Given the description of an element on the screen output the (x, y) to click on. 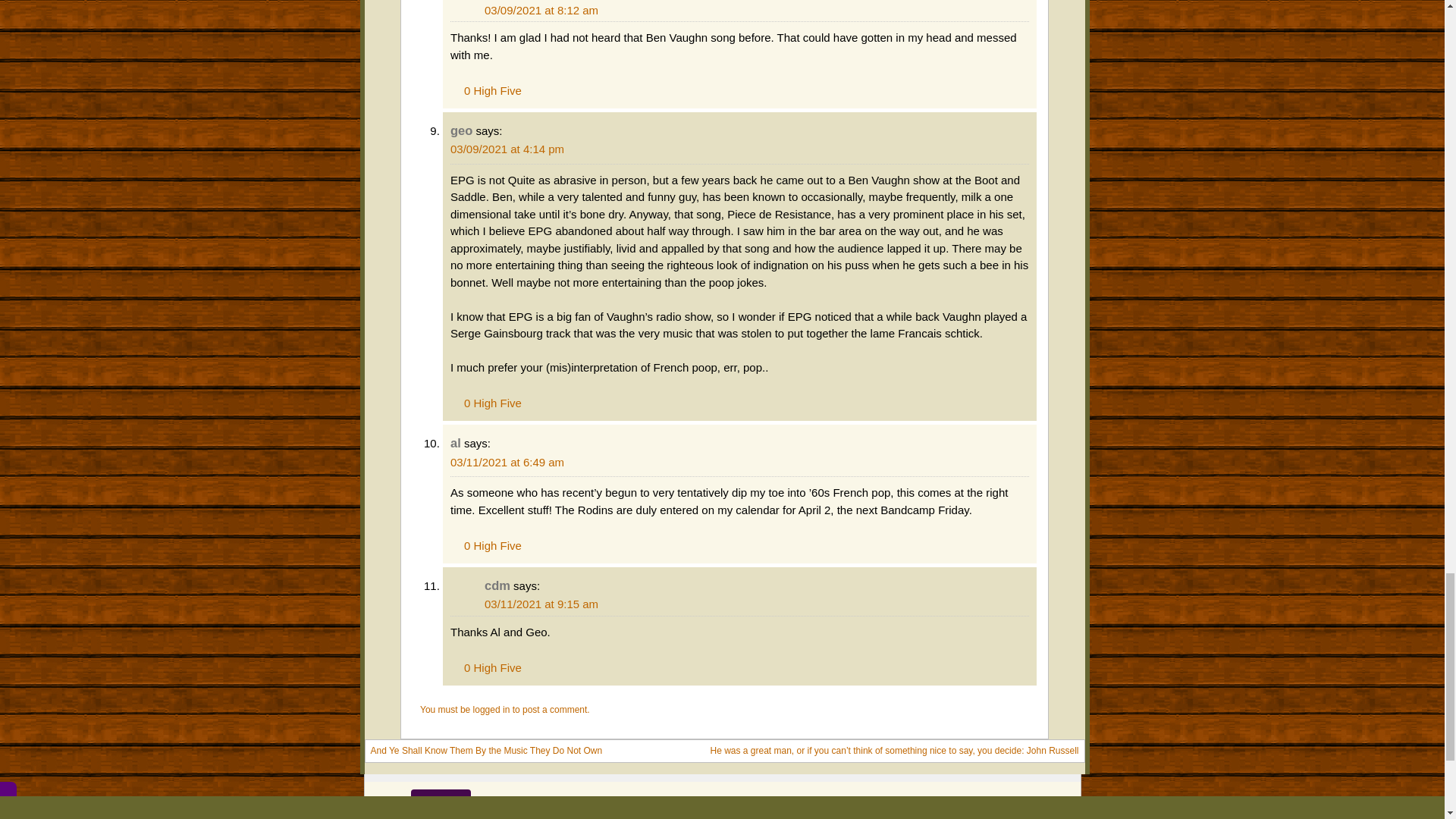
You must be logged in to post a comment. (504, 709)
0 High Five (485, 665)
And Ye Shall Know Them By the Music They Do Not Own (485, 750)
0 High Five (485, 543)
0 High Five (485, 89)
LOGIN (385, 798)
REGISTER (440, 798)
0 High Five (485, 401)
